Given the description of an element on the screen output the (x, y) to click on. 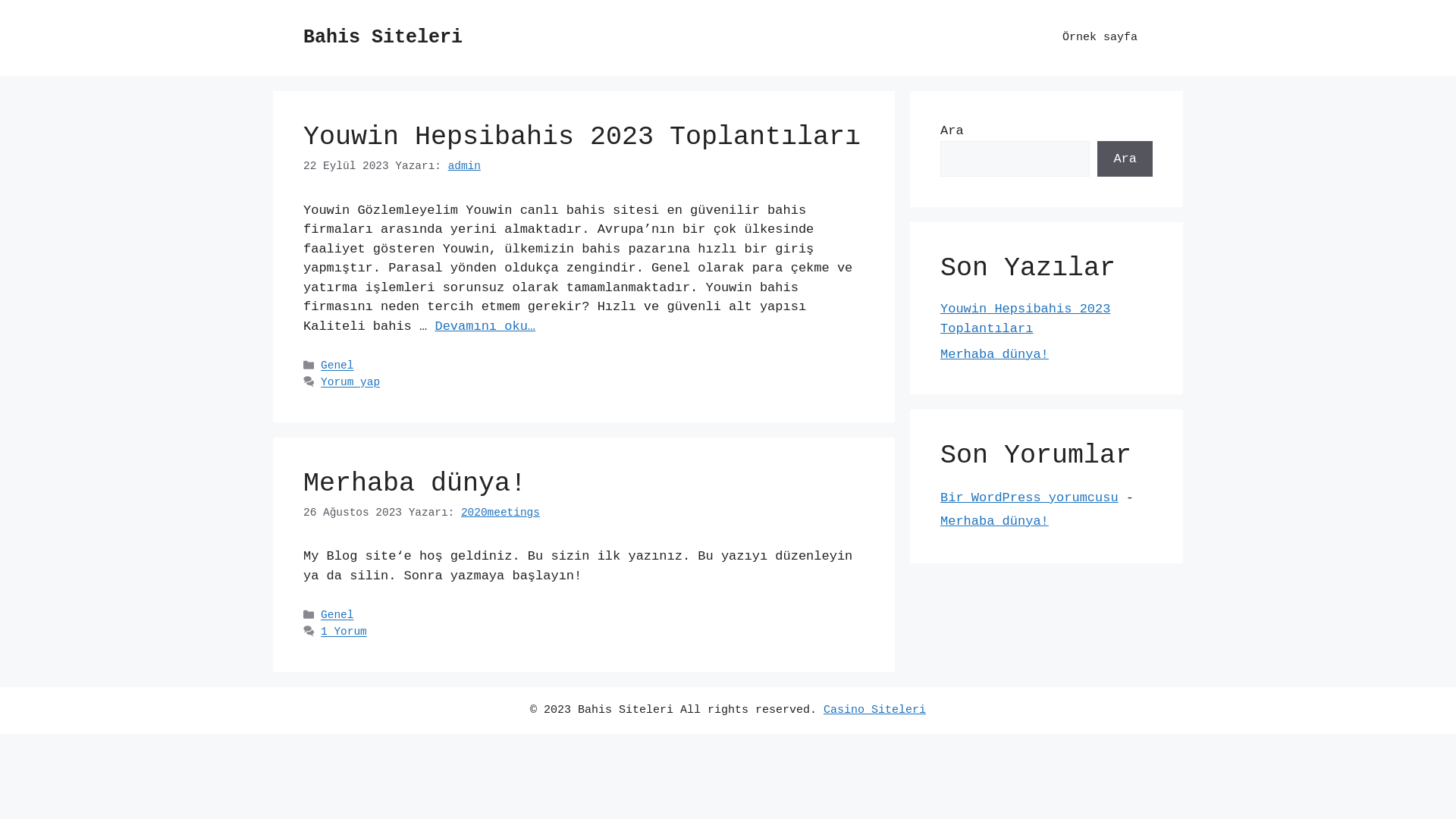
1 Yorum Element type: text (343, 632)
Bir WordPress yorumcusu Element type: text (1029, 497)
Bahis Siteleri Element type: text (382, 37)
Ara Element type: text (1124, 159)
2020meetings Element type: text (500, 512)
Genel Element type: text (336, 615)
Yorum yap Element type: text (349, 382)
Casino Siteleri Element type: text (874, 709)
admin Element type: text (464, 166)
Genel Element type: text (336, 366)
